Given the description of an element on the screen output the (x, y) to click on. 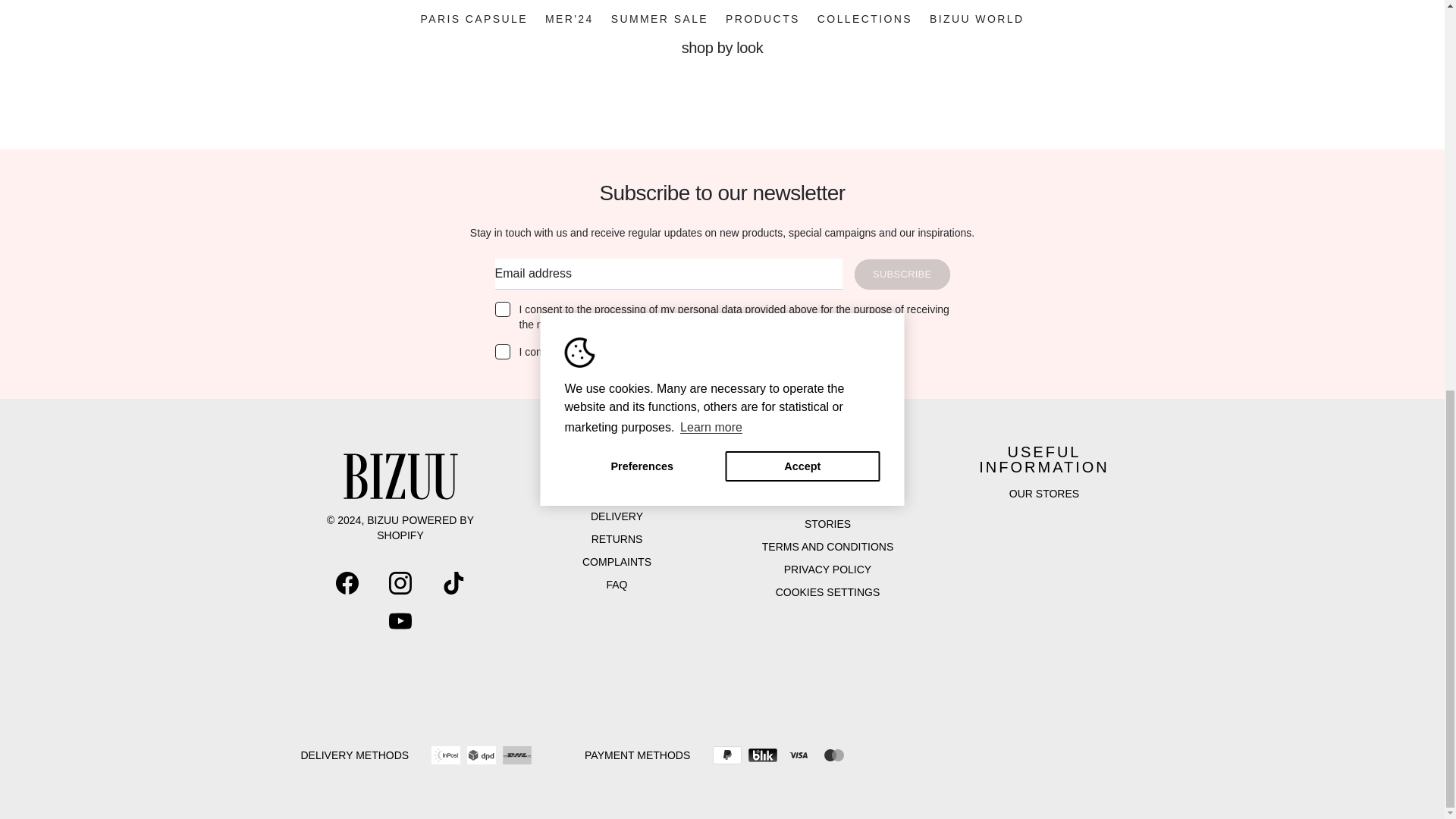
Yes (502, 351)
Yes (502, 309)
